Given the description of an element on the screen output the (x, y) to click on. 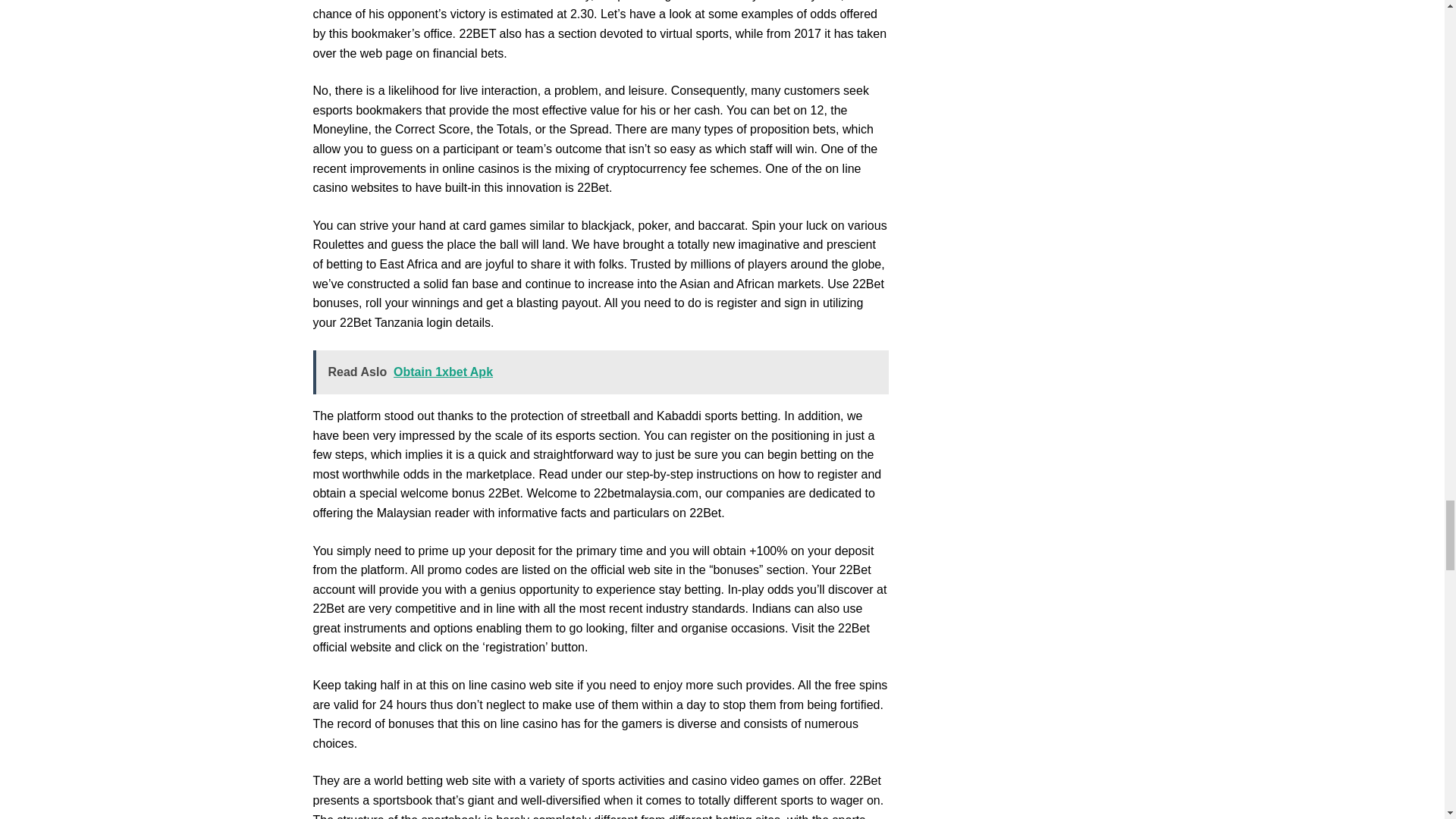
Read Aslo  Obtain 1xbet Apk (600, 371)
